Given the description of an element on the screen output the (x, y) to click on. 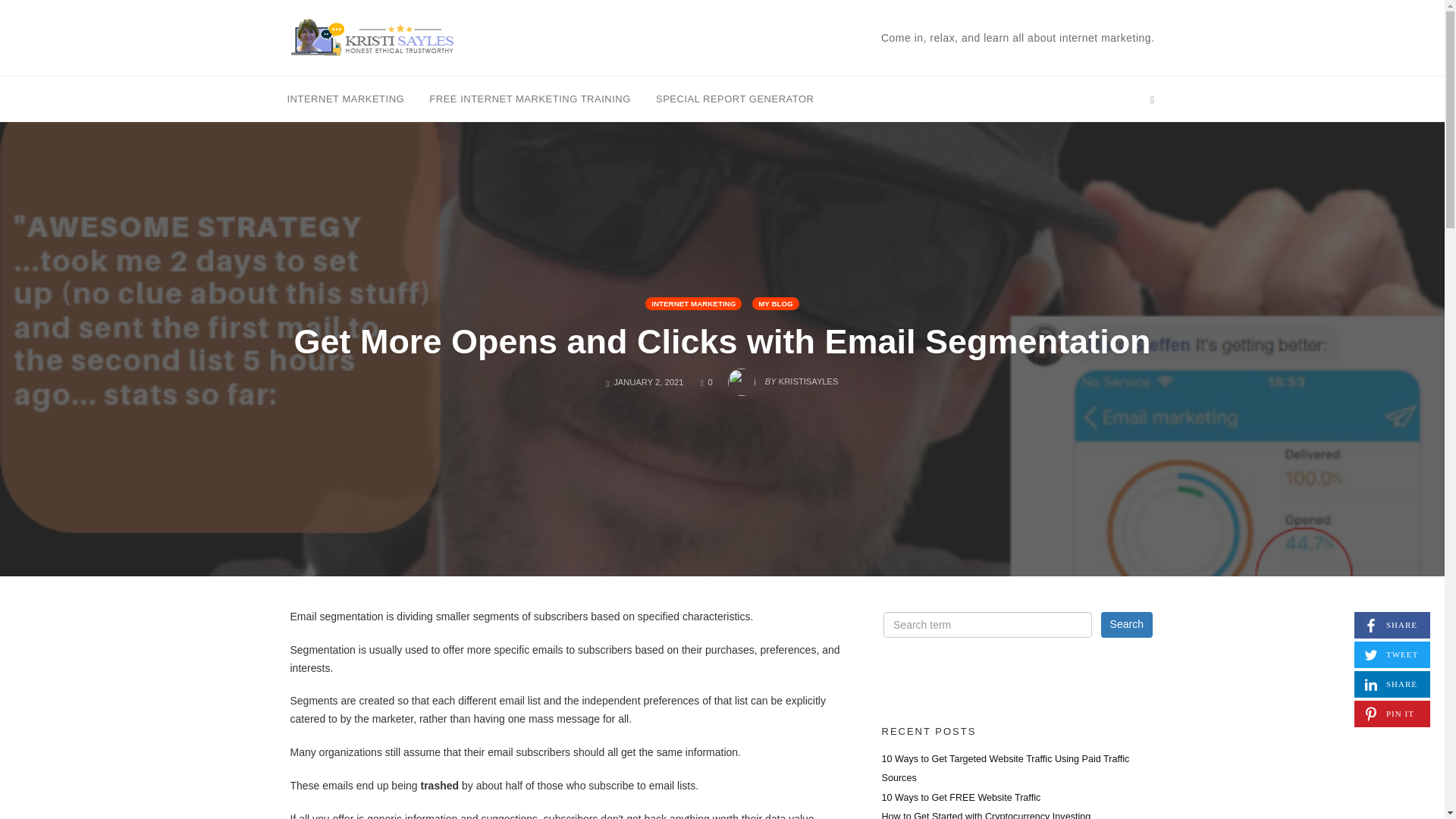
10 Ways to Get FREE Website Traffic (1391, 624)
Search (960, 797)
INTERNET MARKETING (1126, 624)
FREE INTERNET MARKETING TRAINING (693, 303)
FREE Internet Marketing Training (529, 97)
SPECIAL REPORT GENERATOR (529, 97)
